Given the description of an element on the screen output the (x, y) to click on. 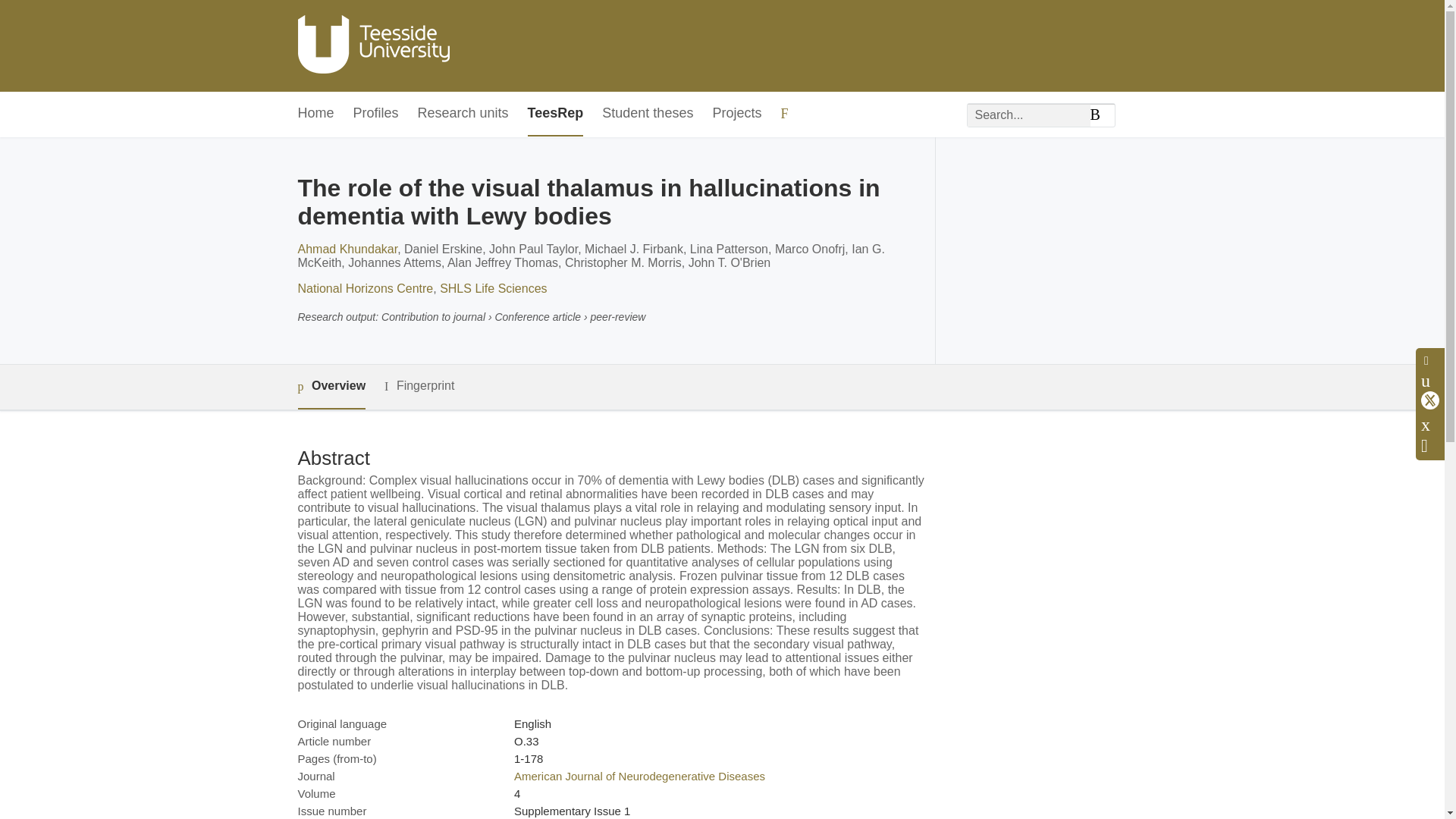
Fingerprint (419, 385)
Overview (331, 386)
Ahmad Khundakar (347, 248)
SHLS Life Sciences (493, 287)
Projects (736, 113)
National Horizons Centre (364, 287)
Student theses (647, 113)
TeesRep (555, 113)
American Journal of Neurodegenerative Diseases (639, 775)
